Given the description of an element on the screen output the (x, y) to click on. 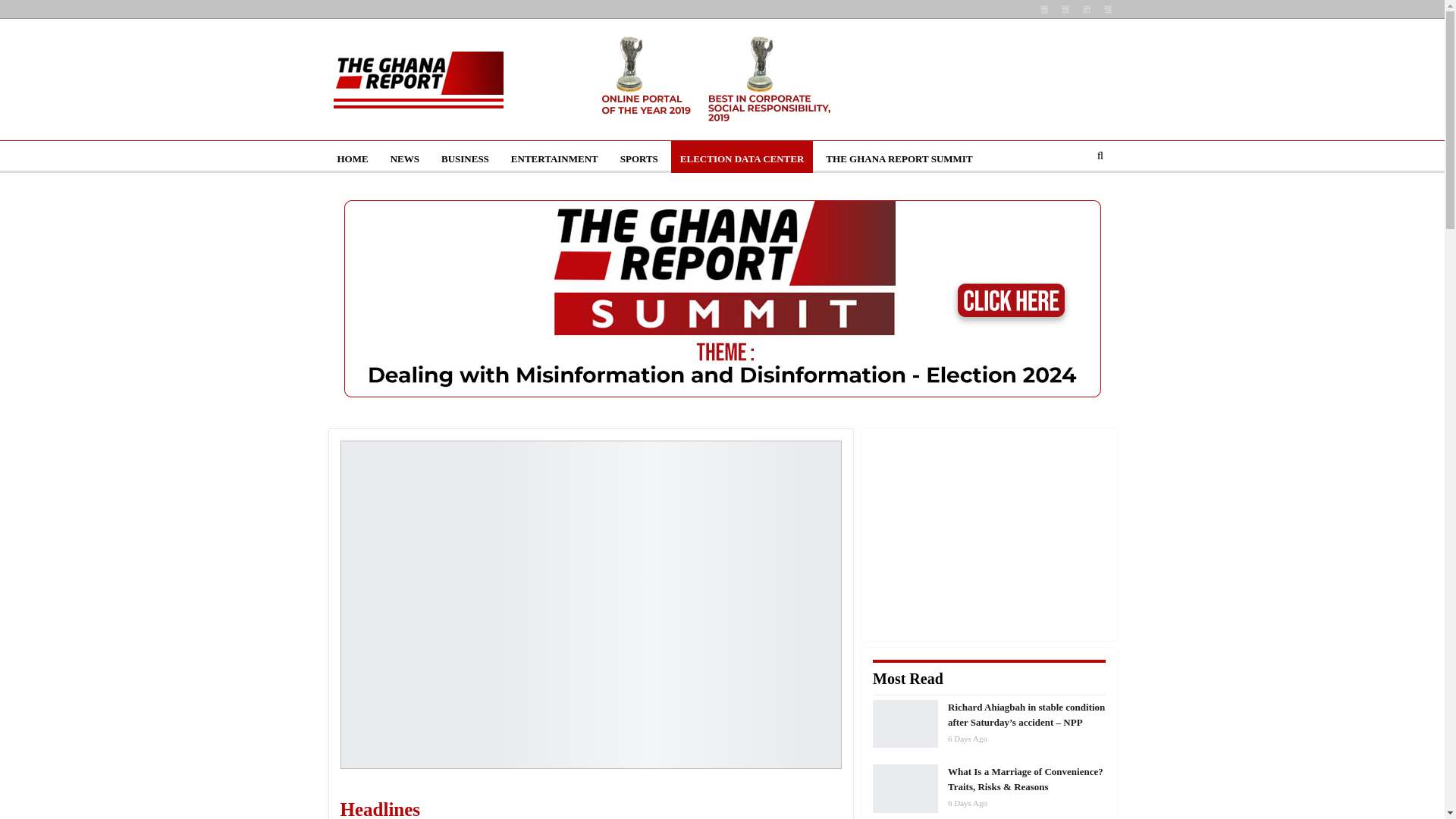
THE GHANA REPORT SUMMIT (898, 158)
BUSINESS (464, 158)
NEWS (404, 158)
ELECTION DATA CENTER (742, 158)
SPORTS (638, 158)
HOME (352, 158)
Headlines (453, 806)
ENTERTAINMENT (554, 158)
